Given the description of an element on the screen output the (x, y) to click on. 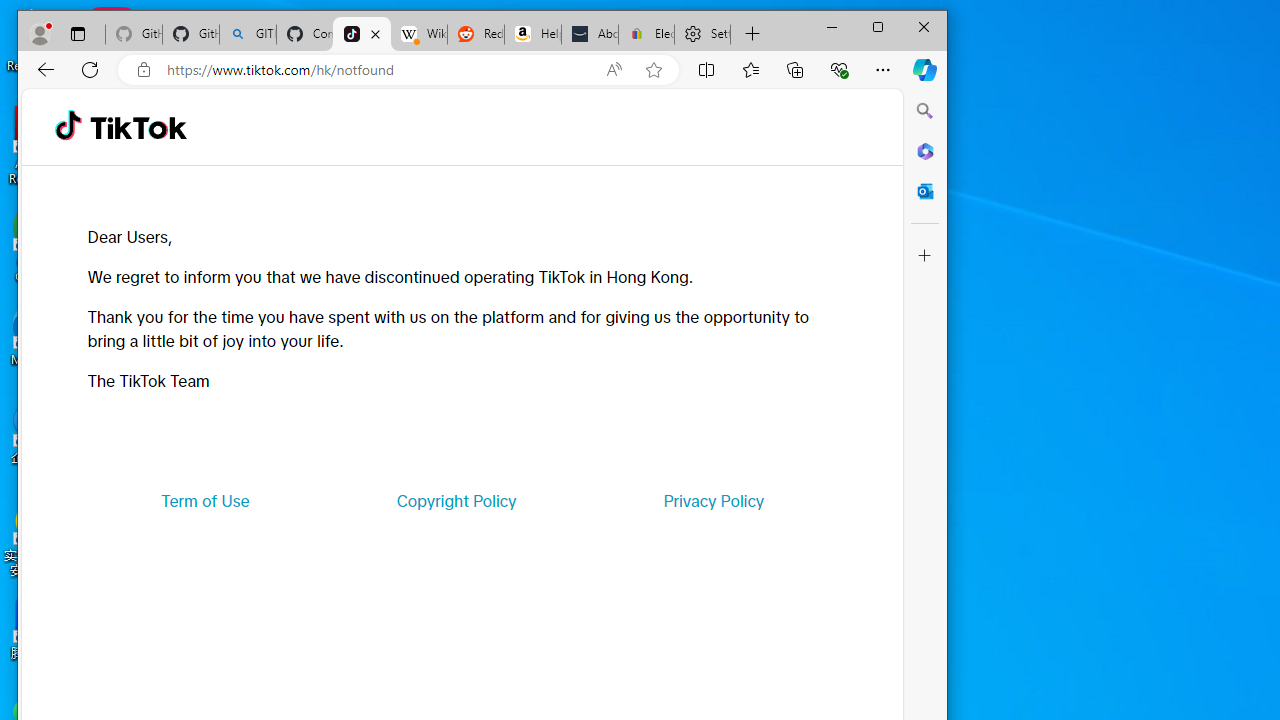
Maximize (878, 26)
